Given the description of an element on the screen output the (x, y) to click on. 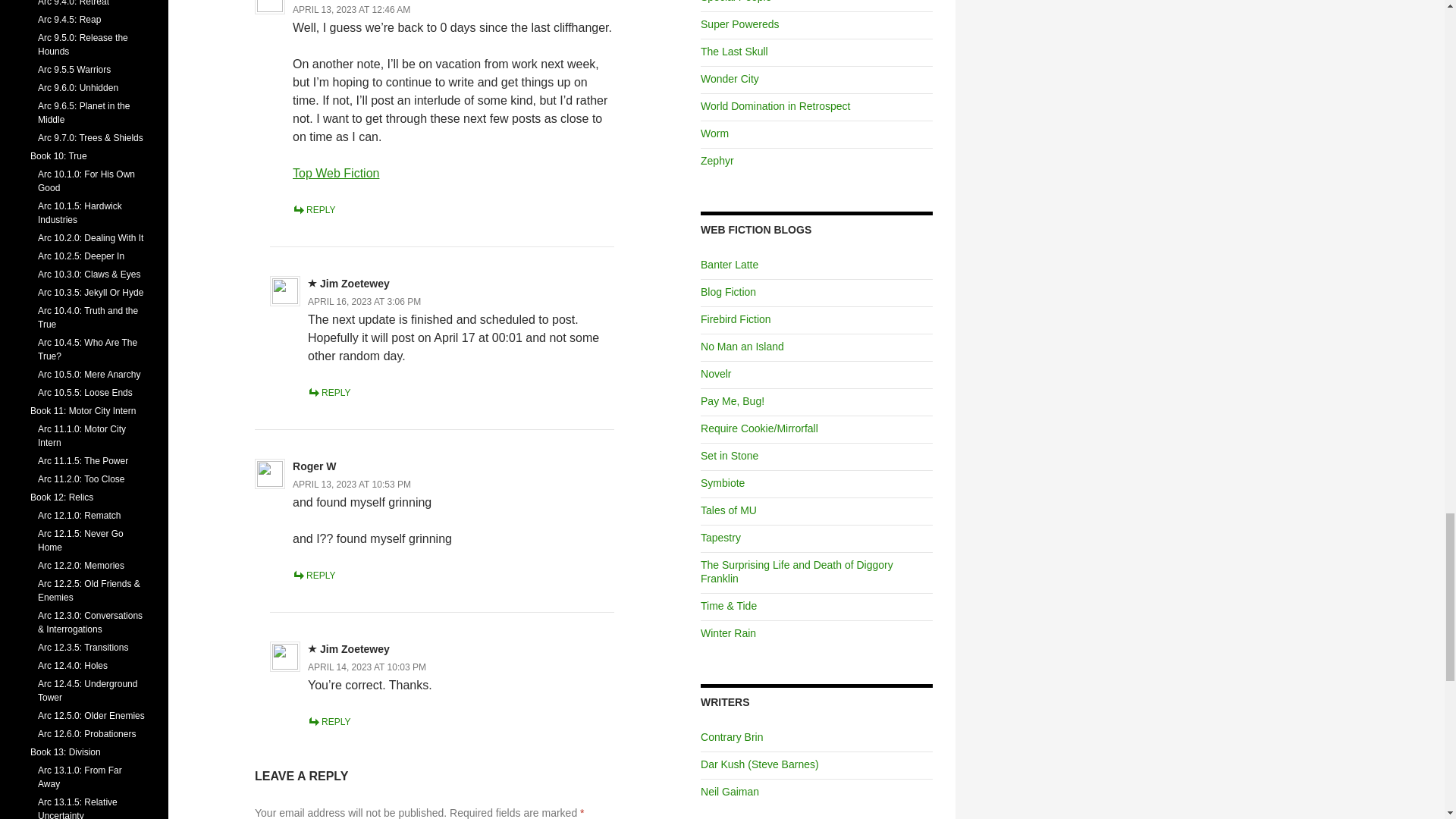
Top Web Fiction (335, 173)
APRIL 13, 2023 AT 12:46 AM (351, 9)
